Given the description of an element on the screen output the (x, y) to click on. 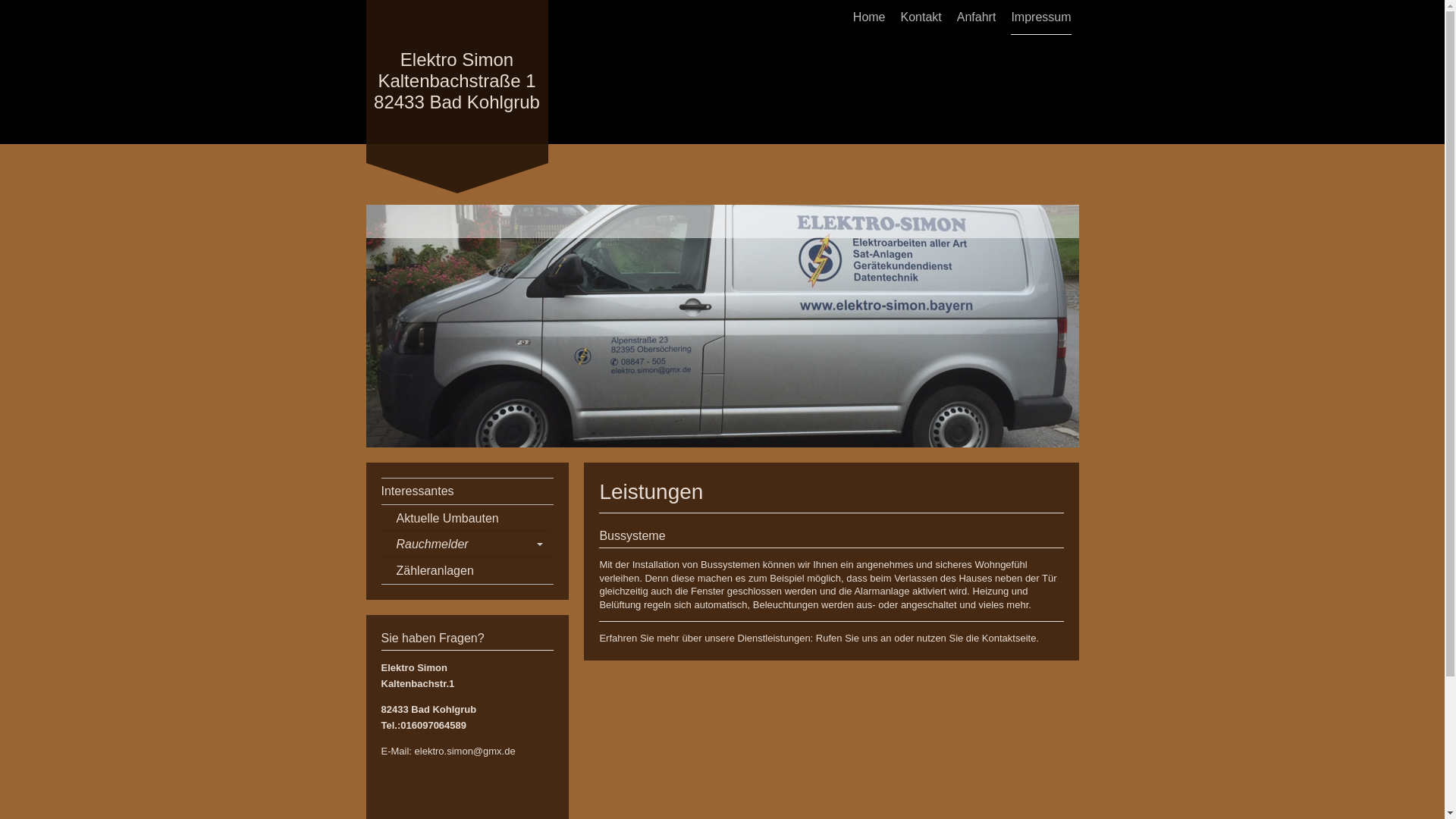
Home Element type: text (869, 17)
Interessantes Element type: text (466, 491)
Anfahrt Element type: text (976, 17)
Impressum Element type: text (1040, 17)
Rauchmelder Element type: text (466, 544)
Kontakt Element type: text (920, 17)
Aktuelle Umbauten Element type: text (466, 518)
